Given the description of an element on the screen output the (x, y) to click on. 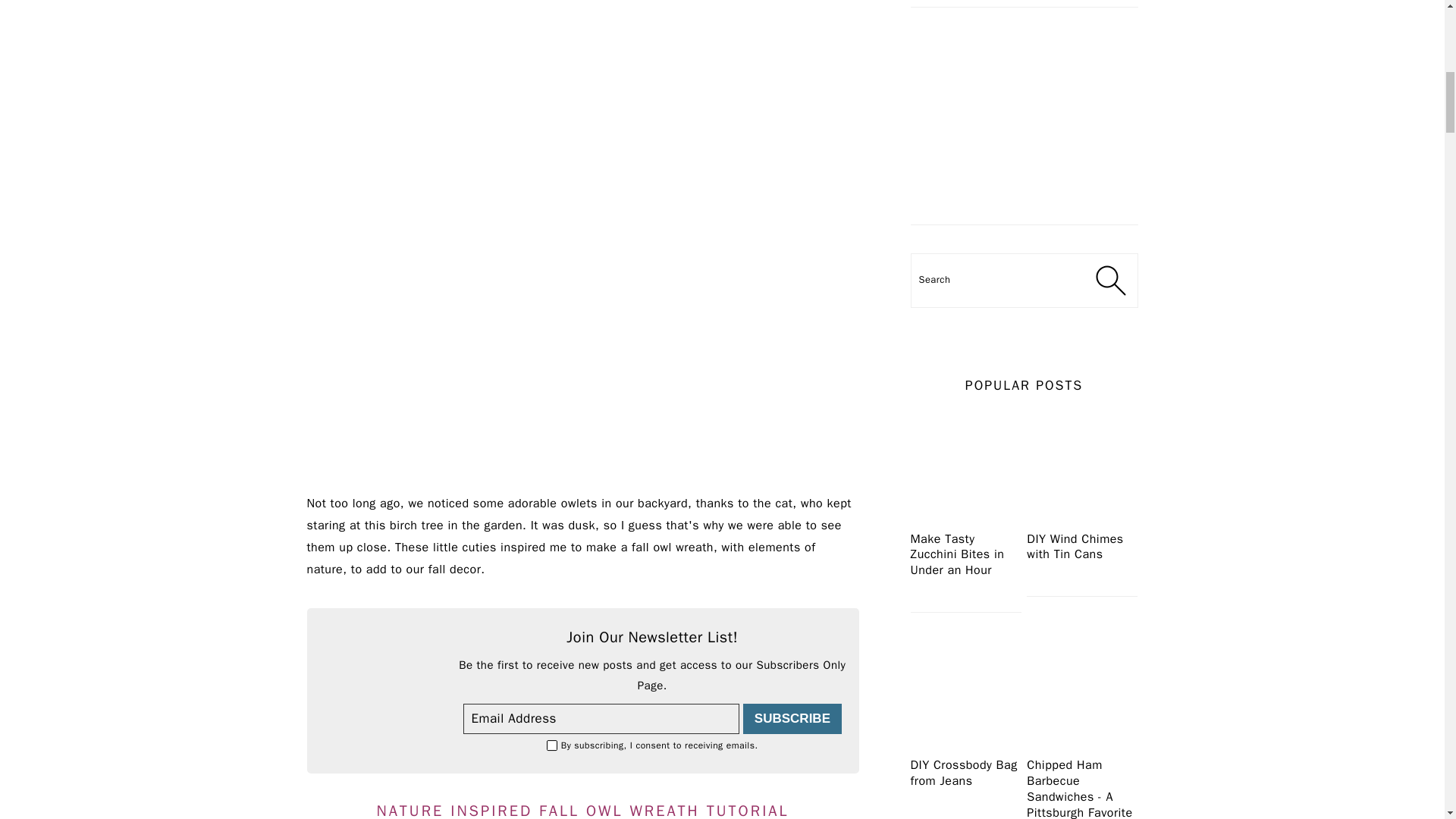
DIY Crossbody Bag from Jeans (965, 748)
DIY Wind Chimes with Tin Cans (1081, 522)
Make Tasty Zucchini Bites in Under an Hour (965, 522)
Chipped Ham Barbecue Sandwiches - A Pittsburgh Favorite (1081, 748)
Subscribe (791, 718)
on (552, 746)
